Given the description of an element on the screen output the (x, y) to click on. 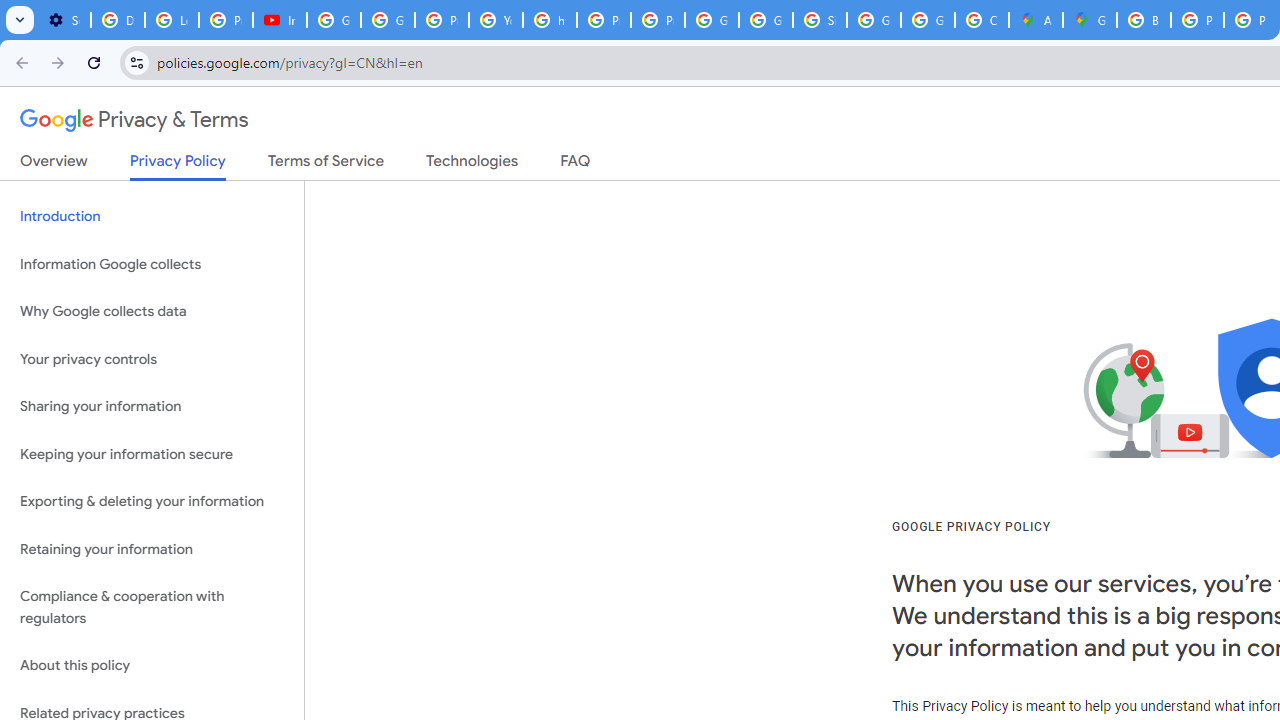
https://scholar.google.com/ (550, 20)
Sign in - Google Accounts (819, 20)
Introduction | Google Privacy Policy - YouTube (280, 20)
Blogger Policies and Guidelines - Transparency Center (1144, 20)
Exporting & deleting your information (152, 502)
About this policy (152, 666)
Technologies (472, 165)
Keeping your information secure (152, 453)
Delete photos & videos - Computer - Google Photos Help (117, 20)
